Given the description of an element on the screen output the (x, y) to click on. 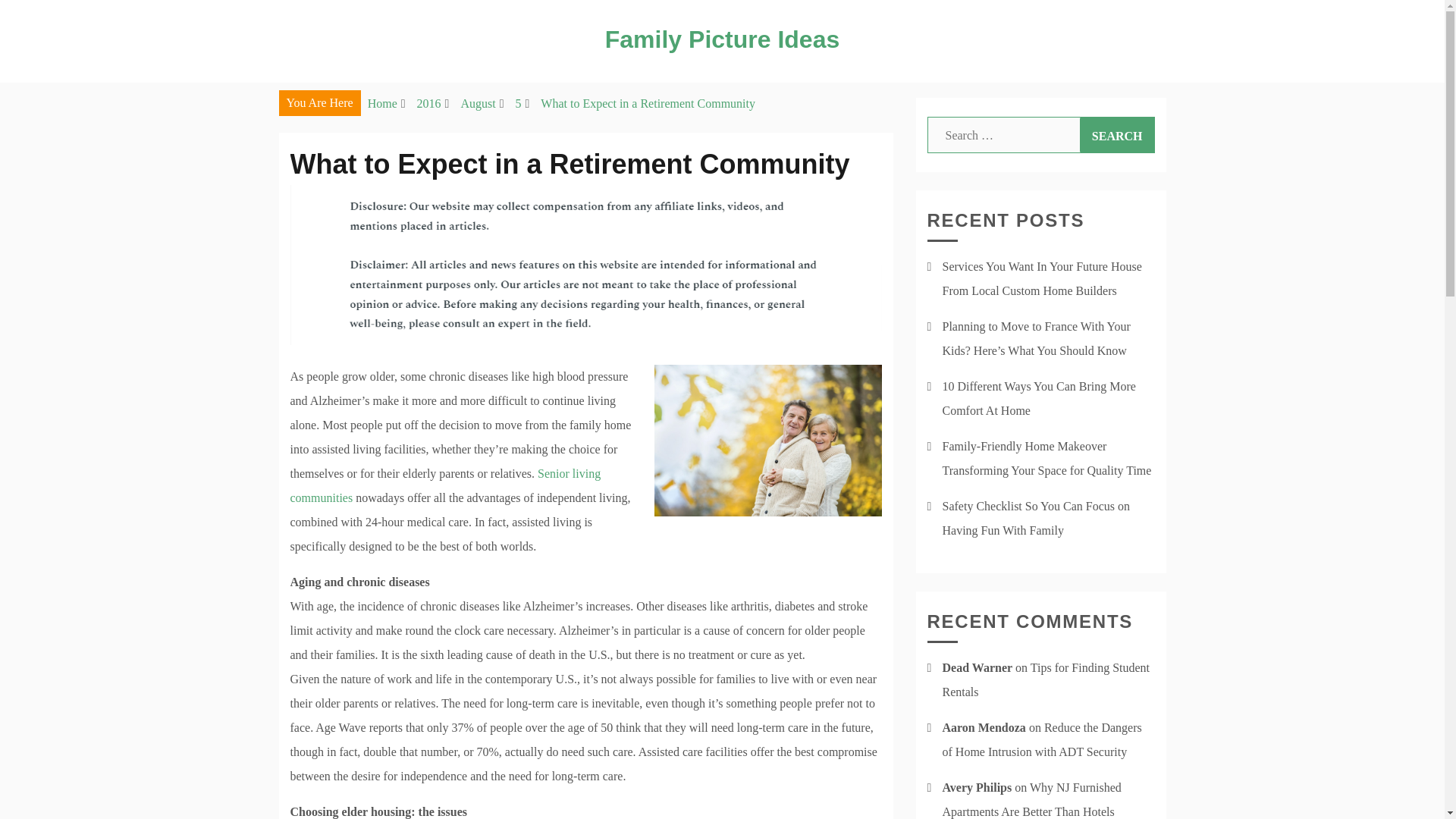
Home (382, 103)
Aaron Mendoza (983, 727)
10 Different Ways You Can Bring More Comfort At Home (1038, 398)
2016 (428, 103)
August (477, 103)
Senior living communities (444, 485)
What to Expect in a Retirement Community (647, 103)
Why NJ Furnished Apartments Are Better Than Hotels (1031, 799)
Search (1117, 135)
Safety Checklist So You Can Focus on Having Fun With Family (1035, 518)
Tips for Finding Student Rentals (1046, 679)
Search (1117, 135)
Search (1117, 135)
